Given the description of an element on the screen output the (x, y) to click on. 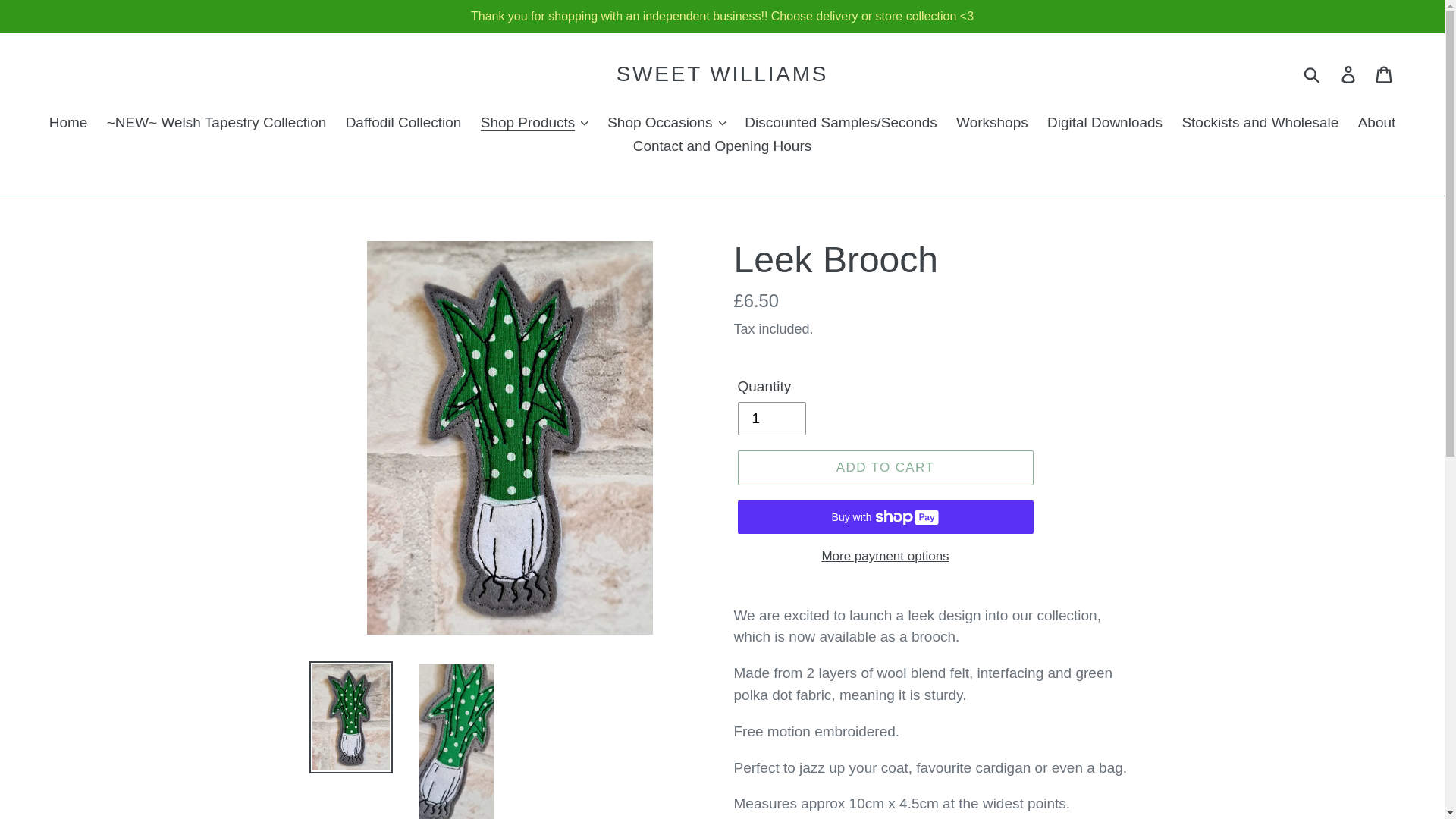
Cart (1385, 74)
1 (770, 418)
Submit (1313, 74)
SWEET WILLIAMS (721, 73)
Log in (1349, 74)
